Given the description of an element on the screen output the (x, y) to click on. 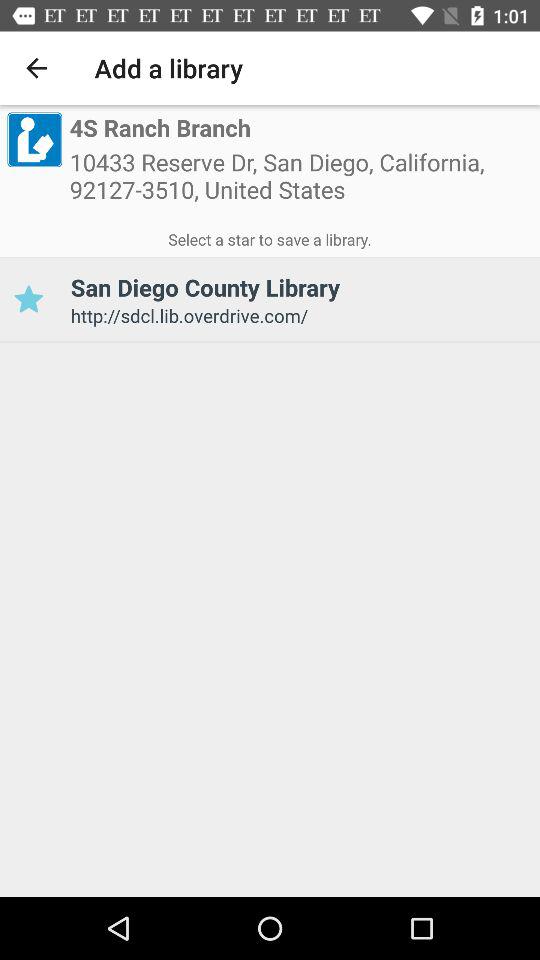
turn off item above the 10433 reserve dr (159, 128)
